Given the description of an element on the screen output the (x, y) to click on. 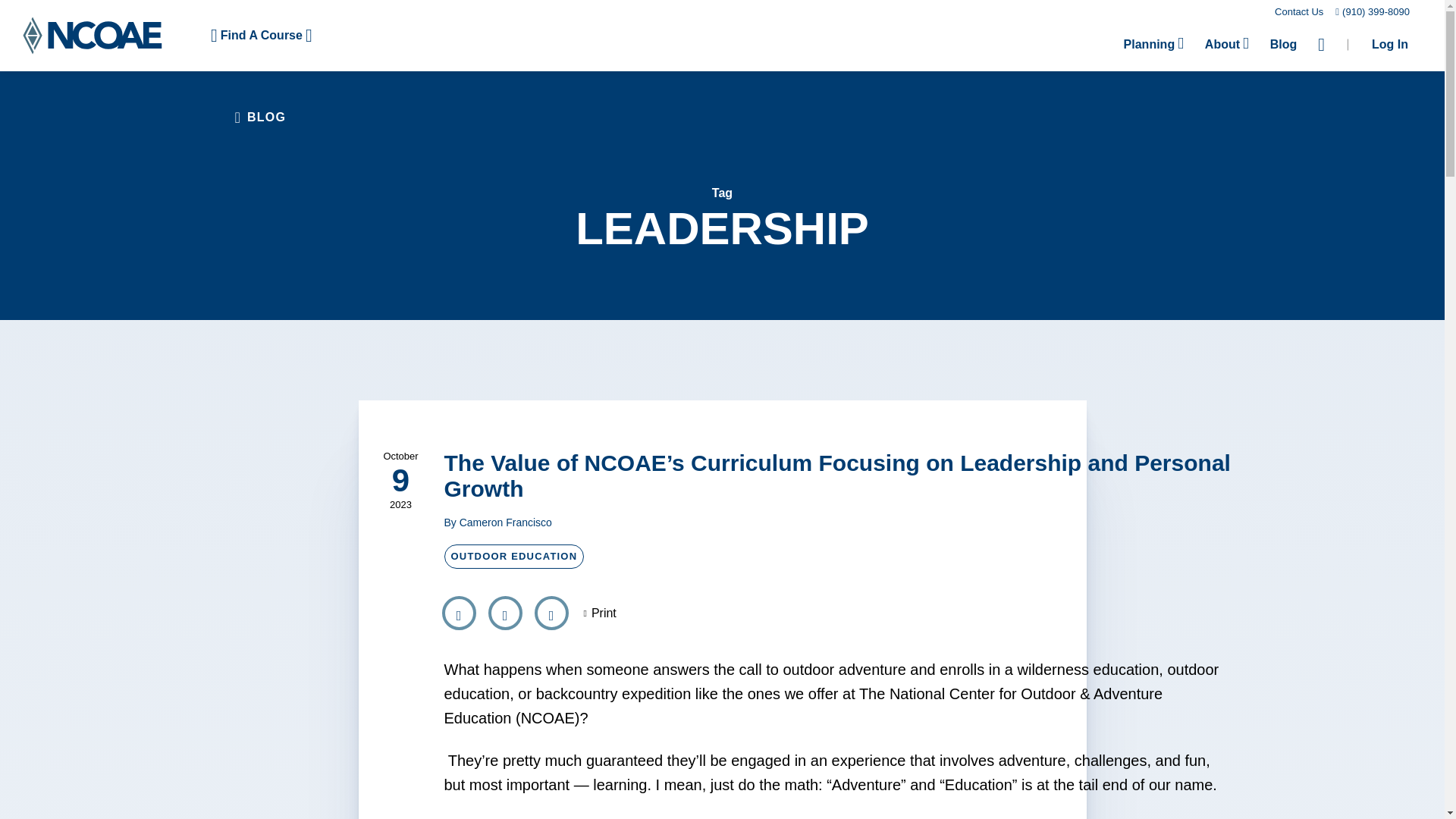
Find A Course (261, 35)
Contact Us (1299, 11)
Planning (1153, 44)
